Given the description of an element on the screen output the (x, y) to click on. 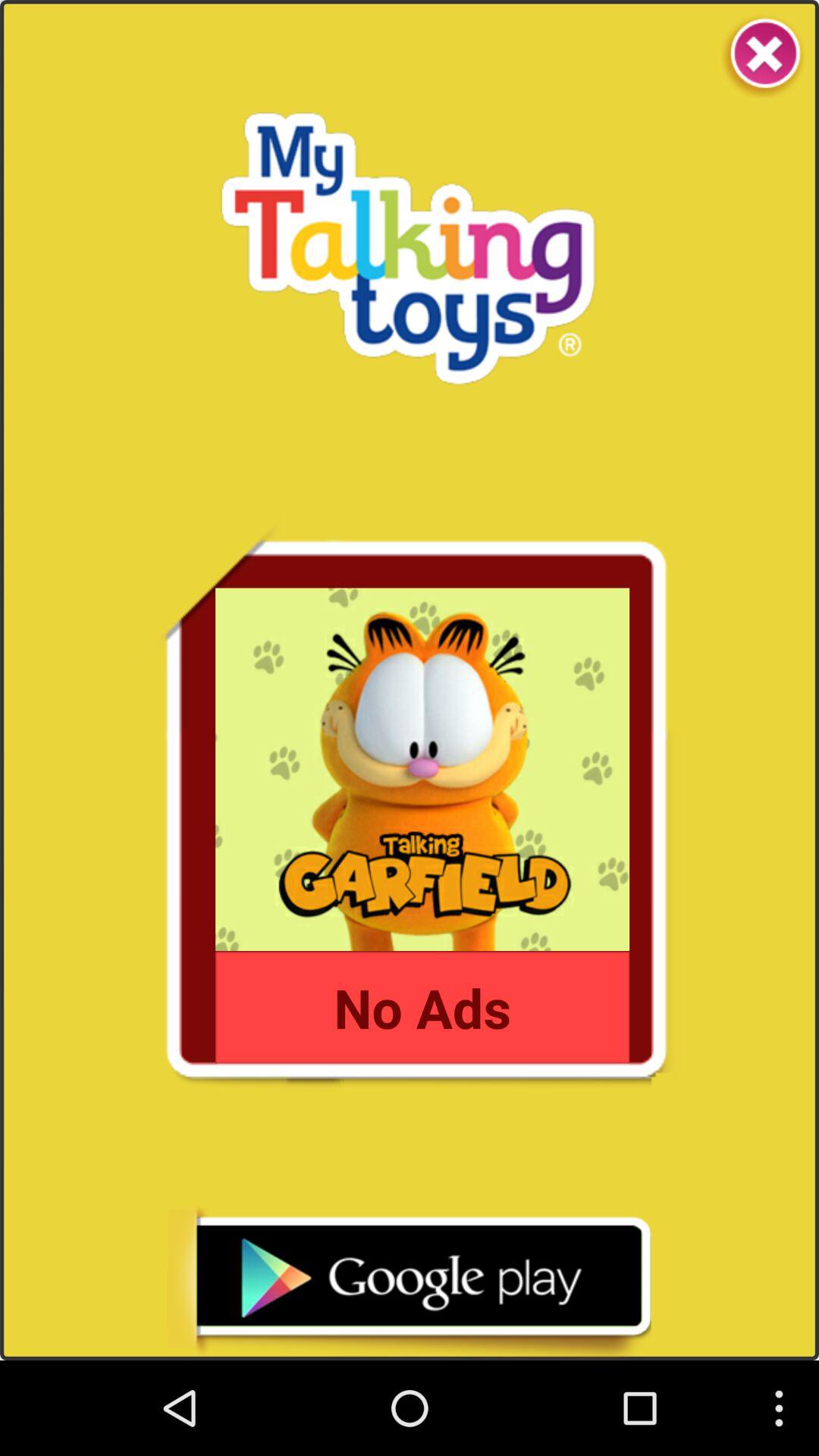
google play app (409, 1283)
